Given the description of an element on the screen output the (x, y) to click on. 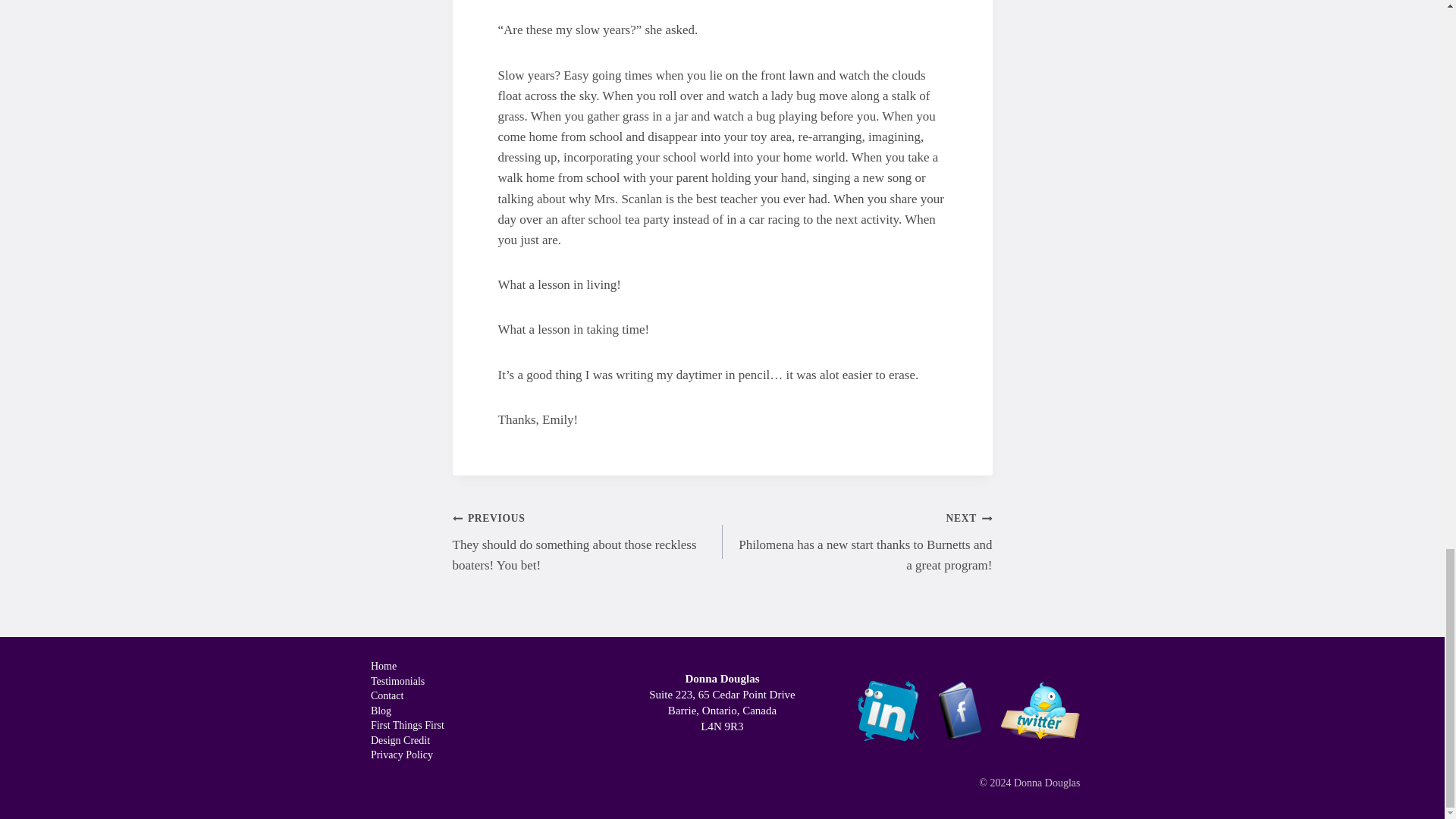
Contact (406, 696)
Home (406, 667)
Testimonials (406, 681)
Design Credit (406, 740)
First Things First (406, 726)
Privacy Policy (406, 755)
Blog (406, 711)
